Given the description of an element on the screen output the (x, y) to click on. 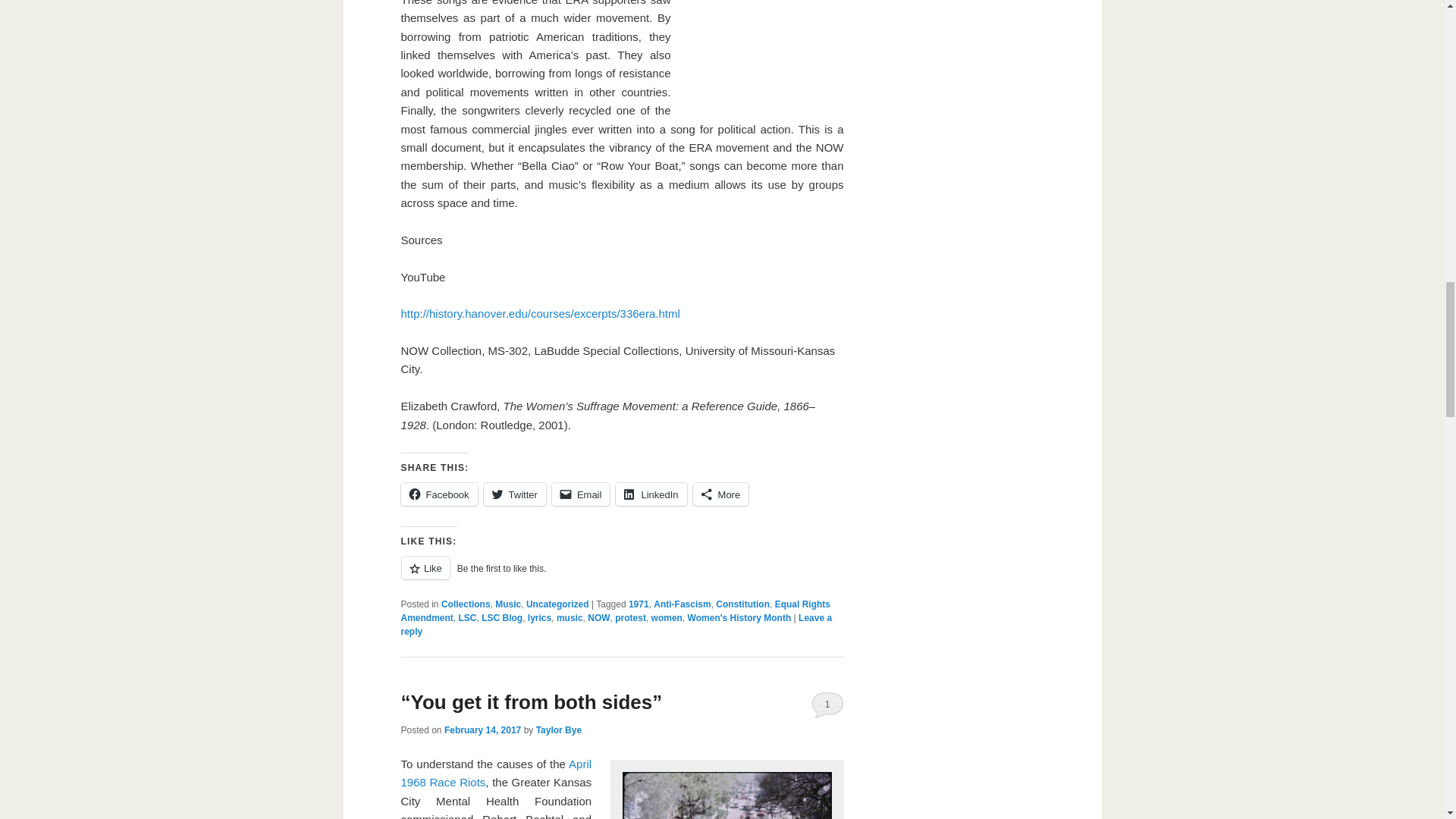
Click to share on Twitter (514, 494)
LSC Blog (501, 617)
Facebook (438, 494)
1971 (638, 603)
Click to share on Facebook (438, 494)
Equal Rights Amendment (614, 610)
Twitter (514, 494)
Click to share on LinkedIn (650, 494)
Anti-Fascism (681, 603)
LinkedIn (650, 494)
Music (508, 603)
music (569, 617)
Uncategorized (557, 603)
9:00 am (482, 729)
lyrics (539, 617)
